Given the description of an element on the screen output the (x, y) to click on. 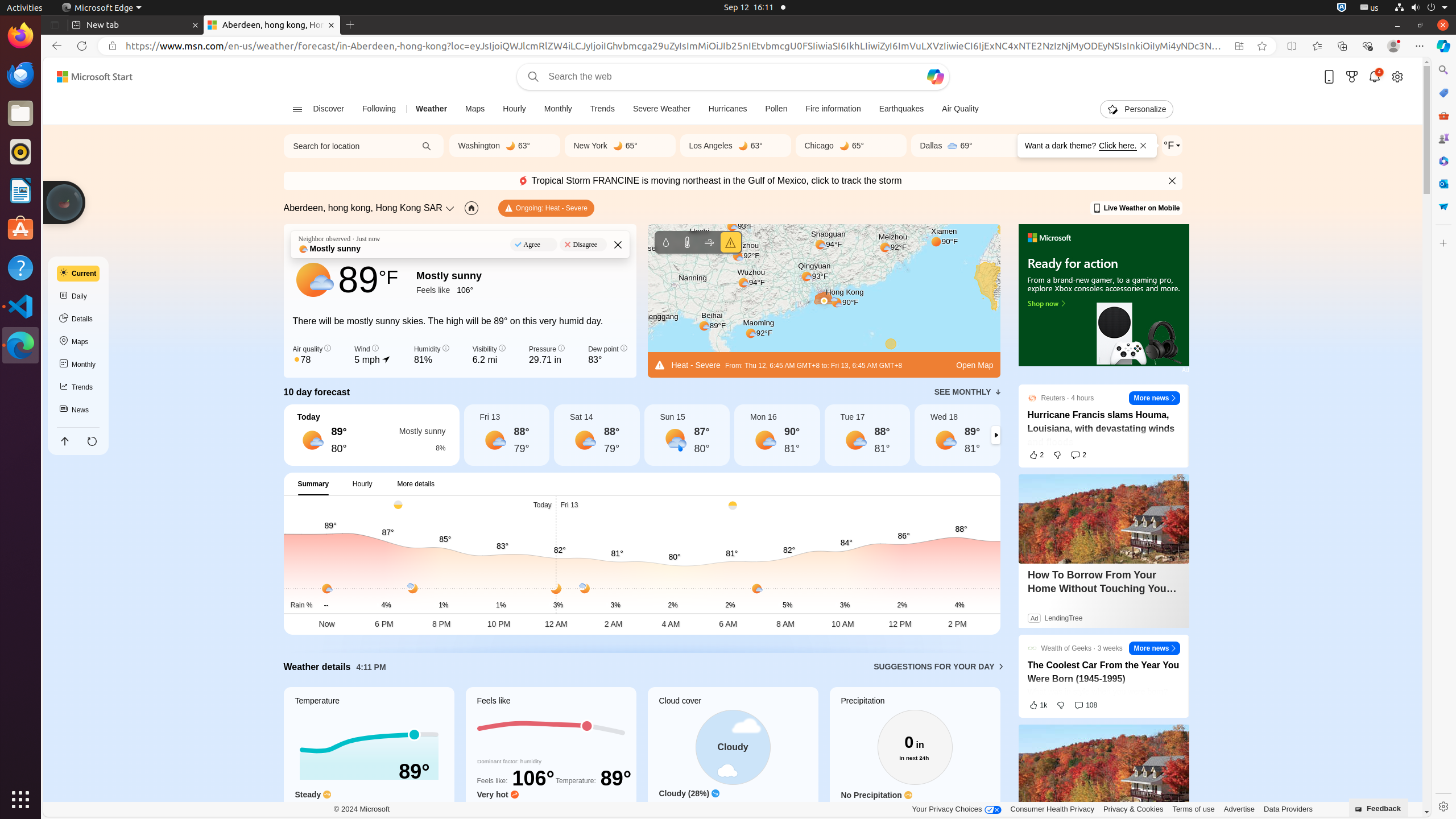
Notifications Element type: push-button (1374, 76)
Fire information Element type: link (833, 108)
:1.21/StatusNotifierItem Element type: menu (1369, 7)
Hurricane Francis slams Houma, Louisiana, with devastating winds and floods - From: Reuters Element type: link (1103, 428)
Microsoft 365 Element type: push-button (1443, 160)
